Given the description of an element on the screen output the (x, y) to click on. 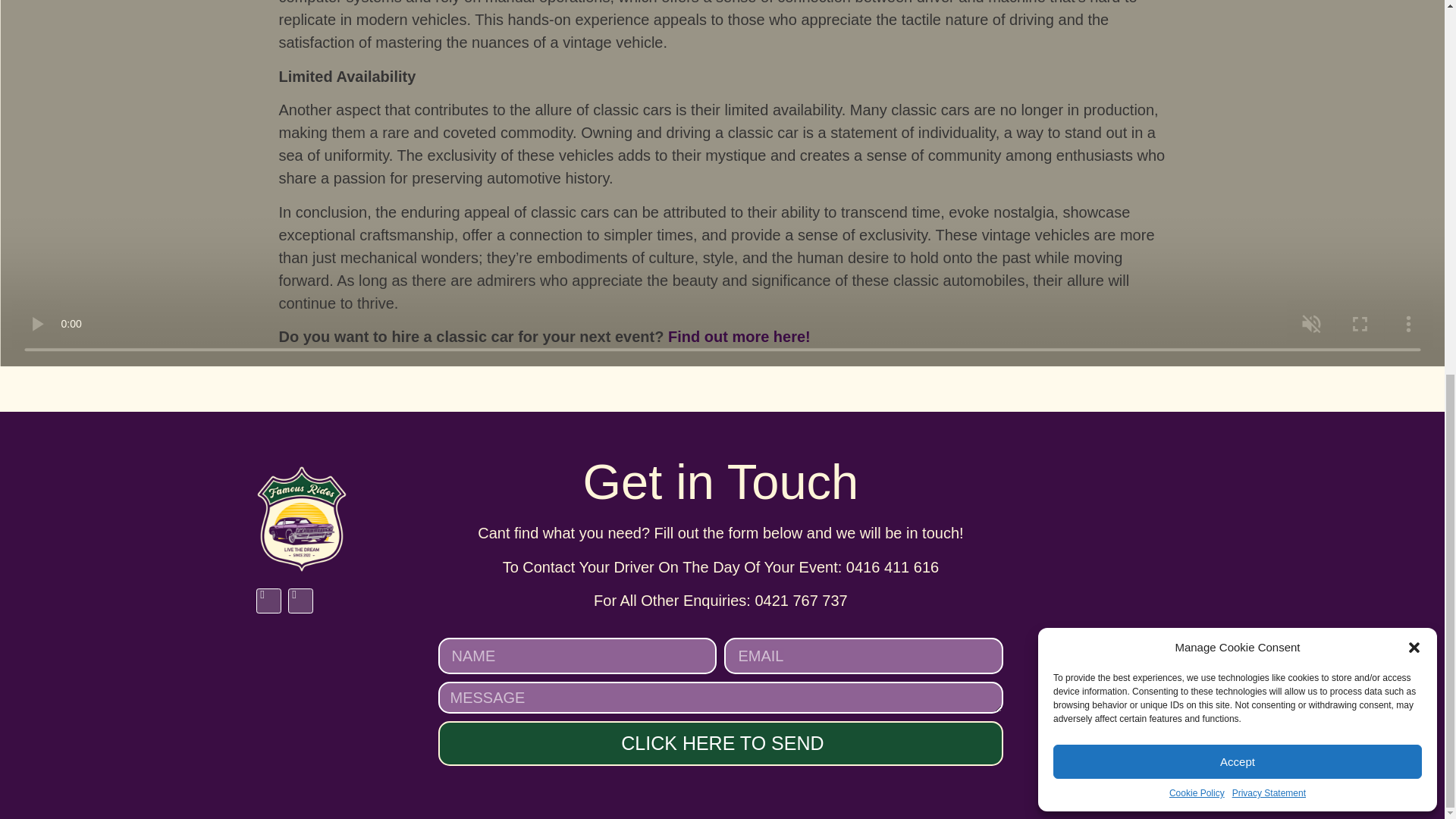
CLICK HERE TO SEND (721, 743)
Accept (1237, 74)
Privacy Statement (1268, 106)
Find out more here! (739, 336)
Cookie Policy (1196, 106)
